Given the description of an element on the screen output the (x, y) to click on. 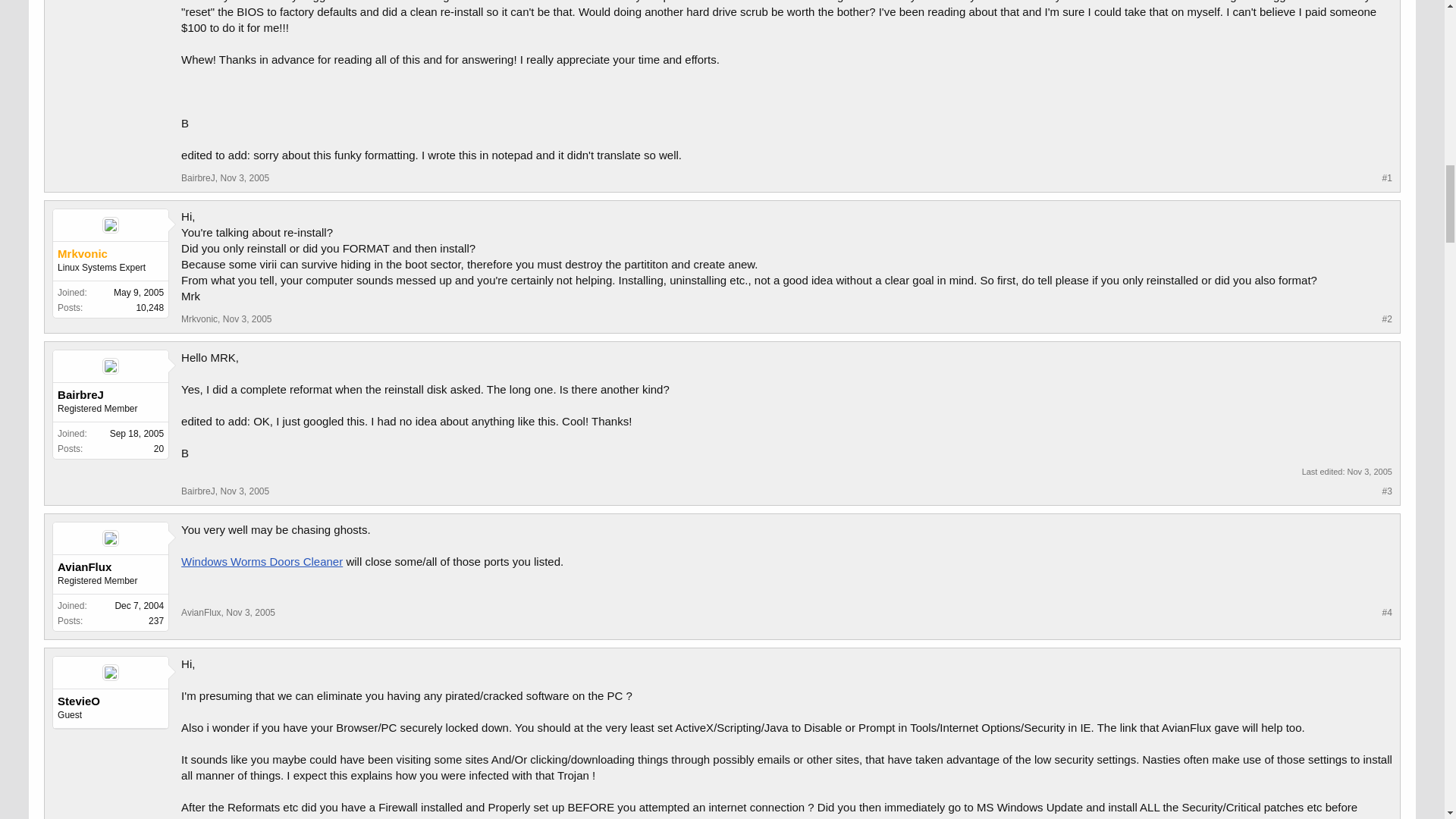
StevieO (110, 701)
Mrkvonic (198, 318)
Nov 3, 2005 (244, 491)
237 (155, 620)
Nov 3, 2005 (250, 612)
20 (158, 448)
BairbreJ (197, 177)
Nov 3, 2005 at 4:59 PM (1369, 470)
AvianFlux (110, 566)
Permalink (244, 491)
AvianFlux (200, 612)
BairbreJ (197, 491)
Permalink (247, 318)
Permalink (250, 612)
10,248 (149, 307)
